Given the description of an element on the screen output the (x, y) to click on. 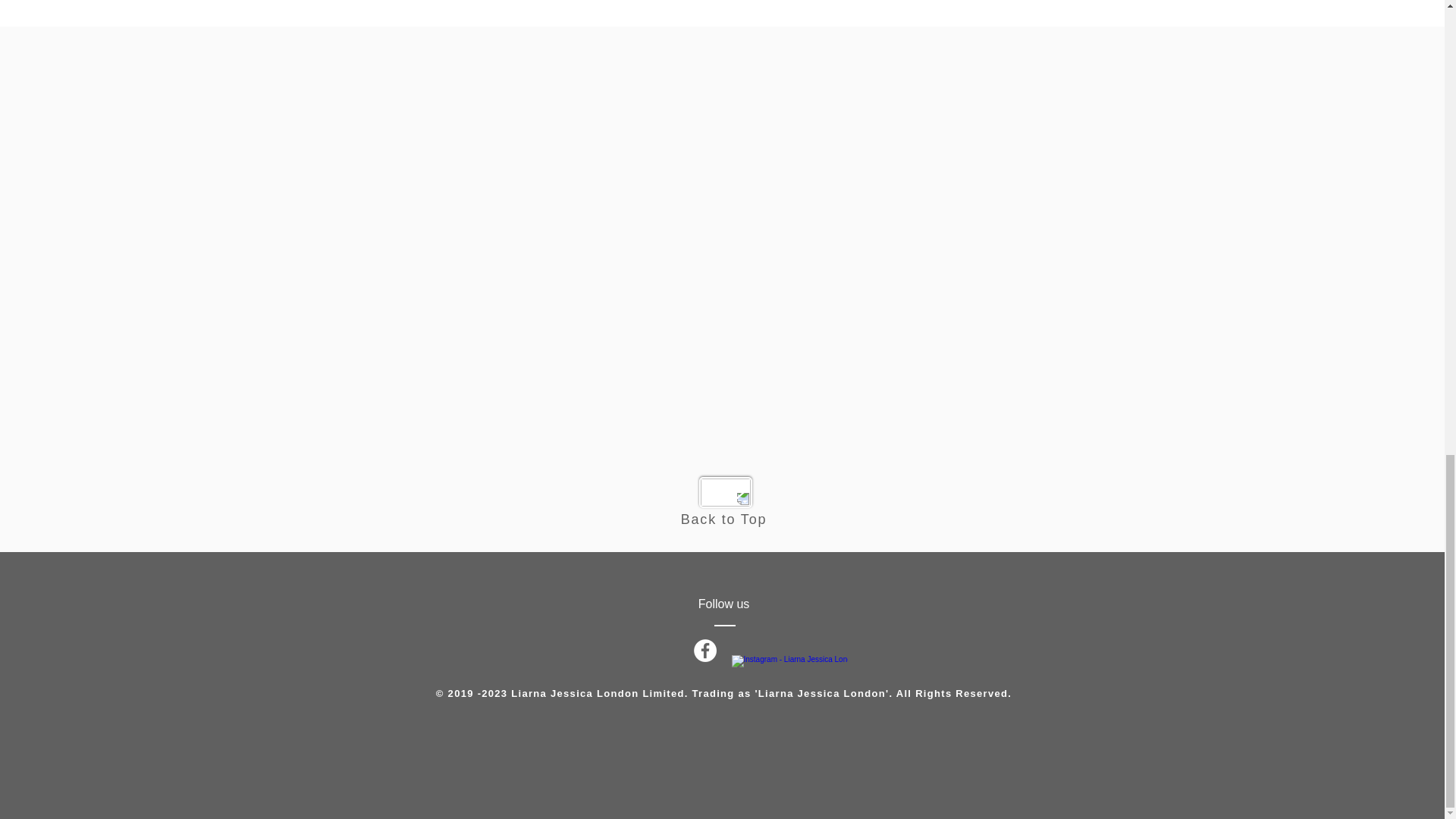
Back to Top (724, 519)
